Given the description of an element on the screen output the (x, y) to click on. 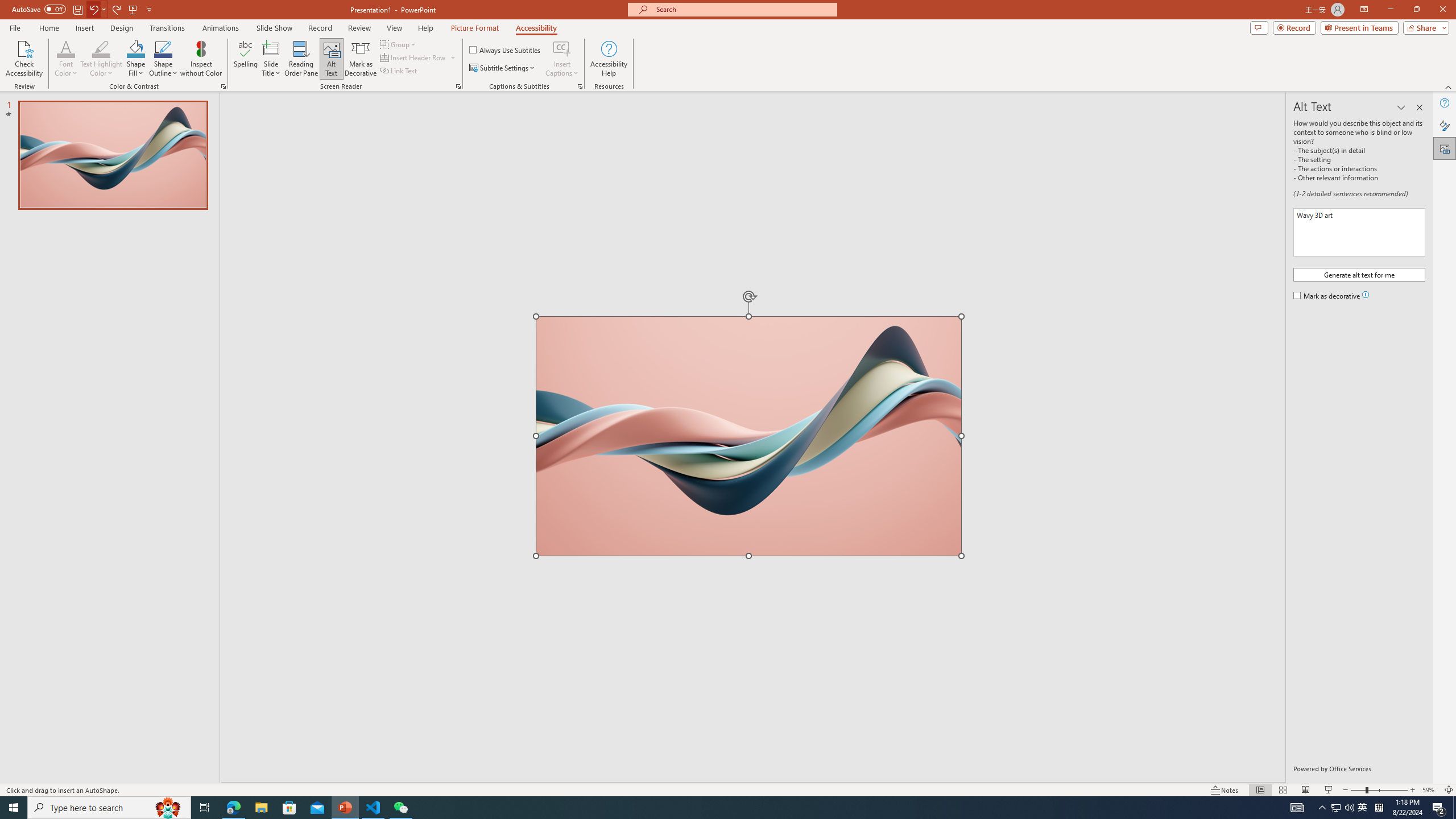
Format Picture (1444, 125)
